Given the description of an element on the screen output the (x, y) to click on. 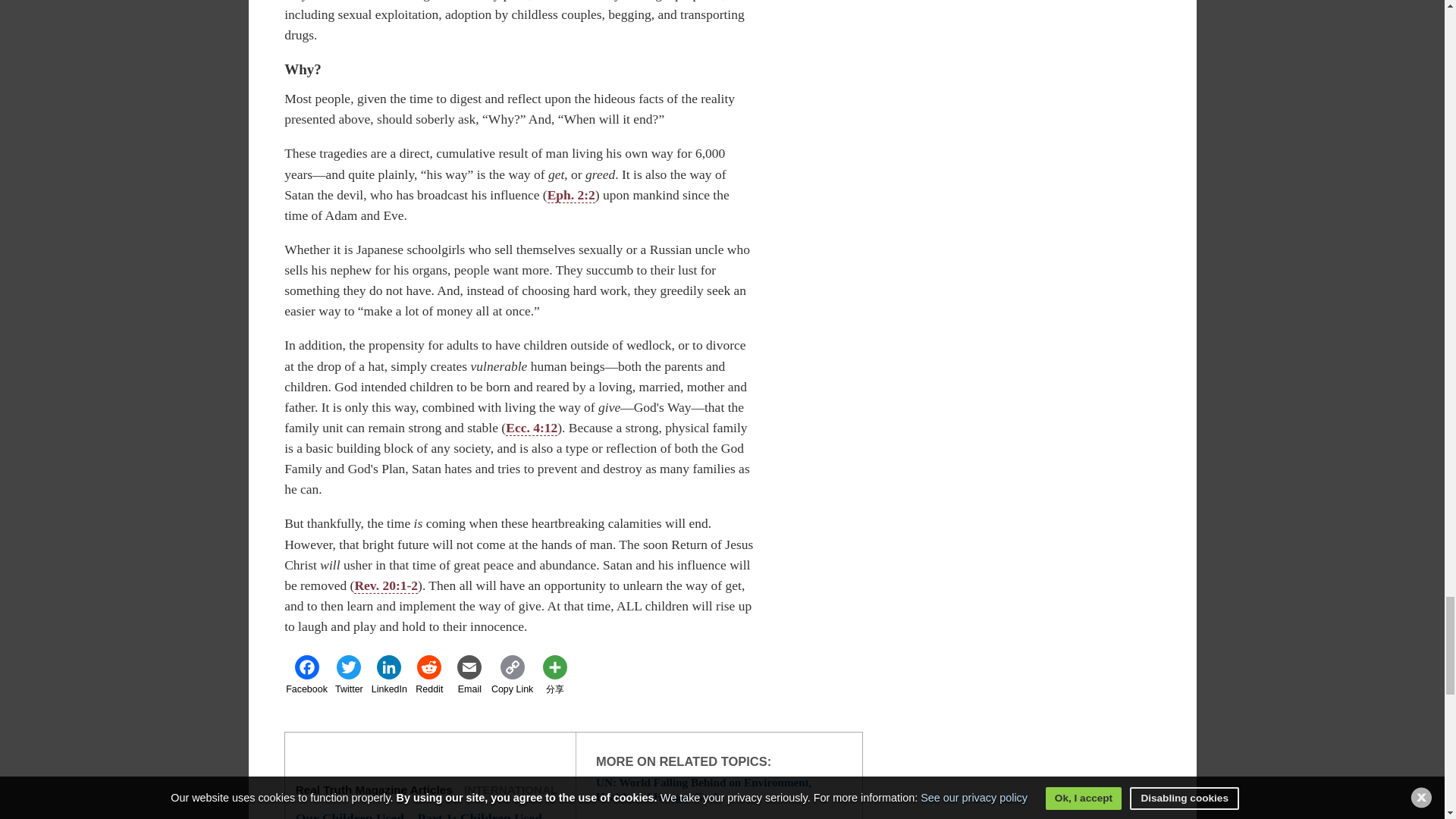
LinkedIn (389, 675)
View scripture (385, 585)
View scripture (571, 195)
Ecc. 4:12 (531, 427)
Eph. 2:2 (571, 195)
Facebook (306, 675)
View scripture (531, 427)
Email (469, 675)
Rev. 20:1-2 (385, 585)
Reddit (429, 675)
Twitter (349, 675)
